Given the description of an element on the screen output the (x, y) to click on. 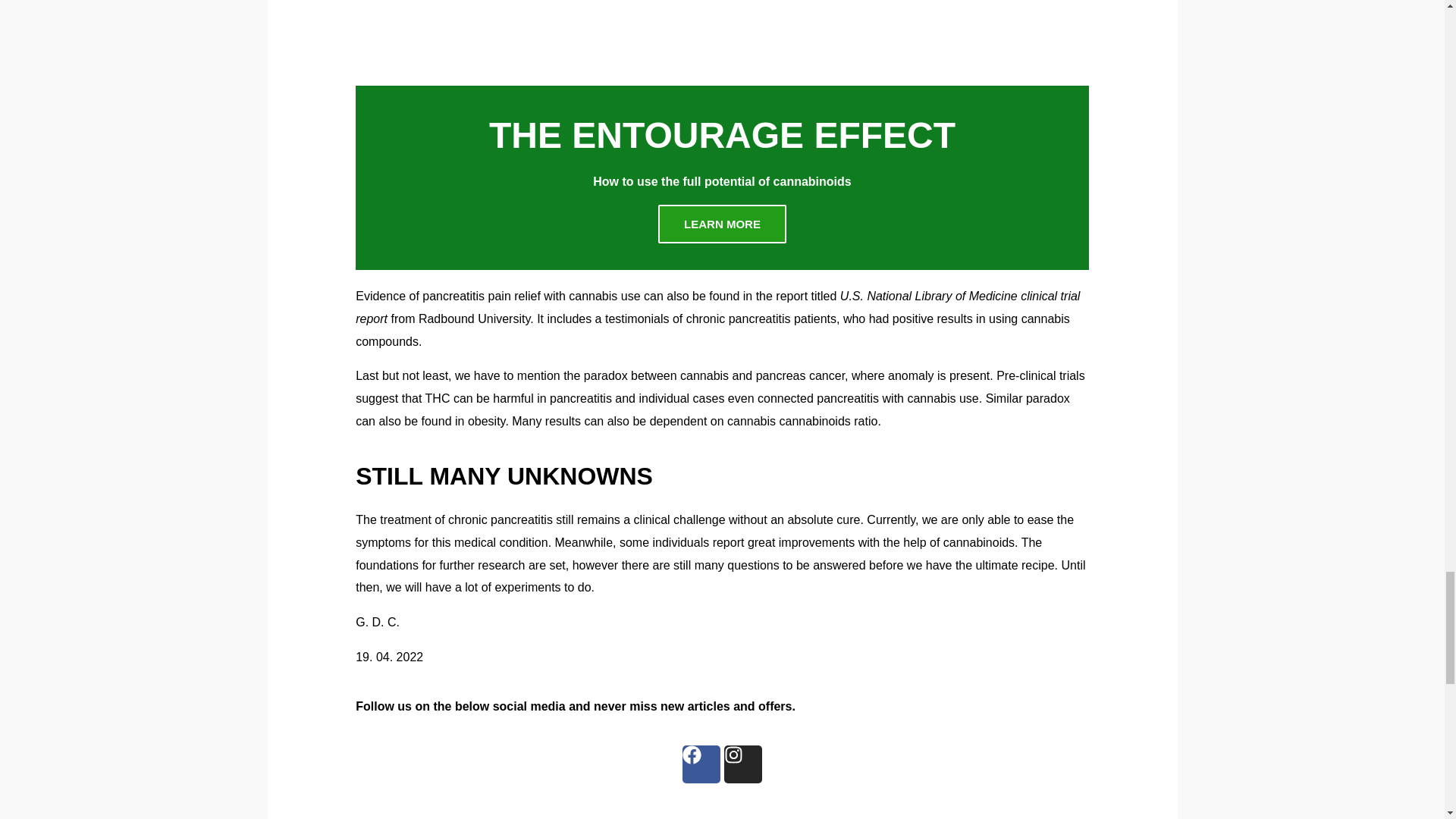
Instagram (742, 763)
U.S. National Library of Medicine clinical trial report (717, 307)
Facebook (701, 763)
LEARN MORE (722, 223)
